Given the description of an element on the screen output the (x, y) to click on. 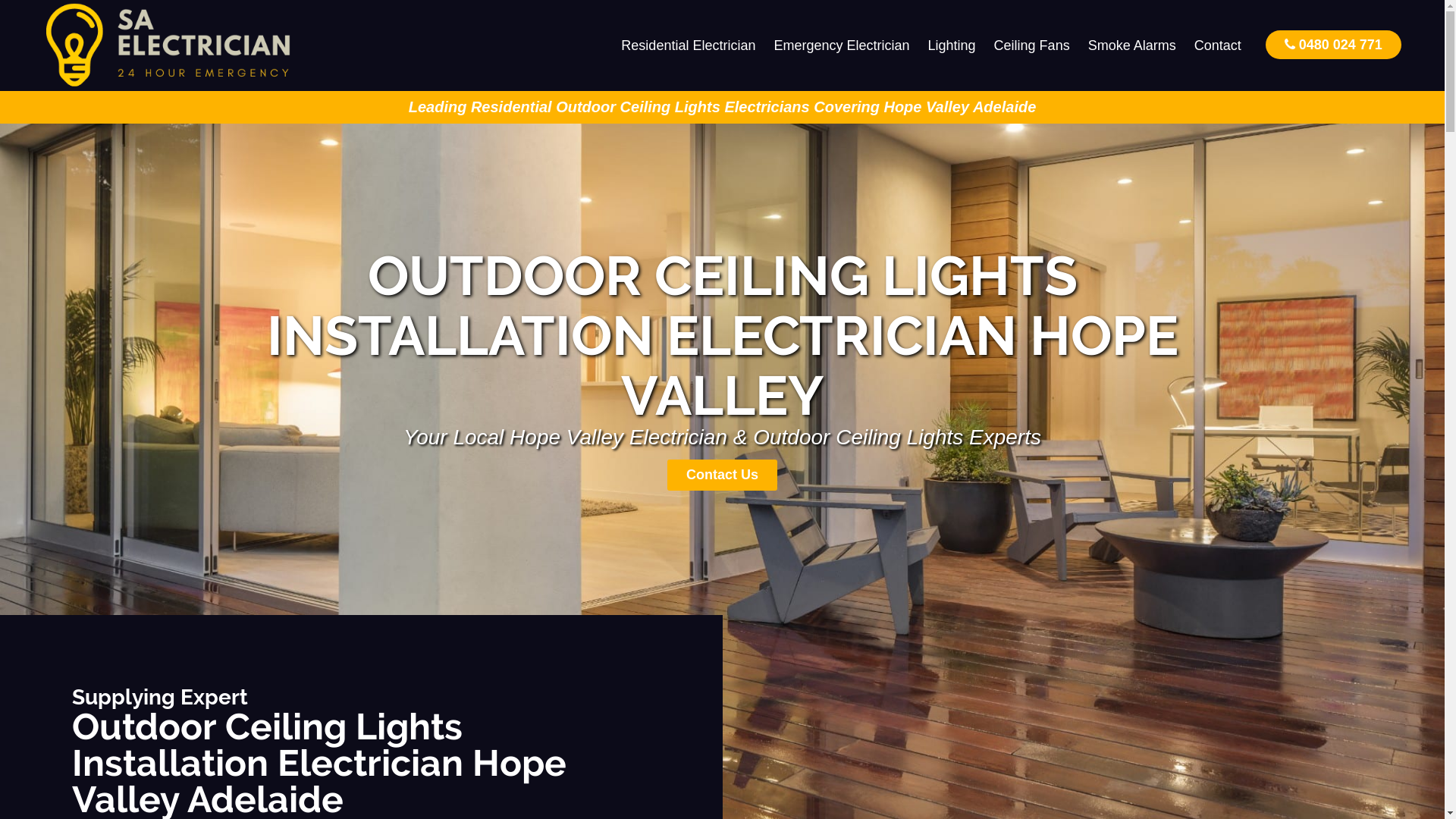
Contact Element type: text (1217, 45)
Contact Us Element type: text (722, 474)
Smoke Alarms Element type: text (1132, 45)
Ceiling Fans Element type: text (1032, 45)
Lighting Element type: text (952, 45)
Residential Electrician Element type: text (687, 45)
Emergency Electrician Element type: text (841, 45)
0480 024 771 Element type: text (1333, 44)
